Given the description of an element on the screen output the (x, y) to click on. 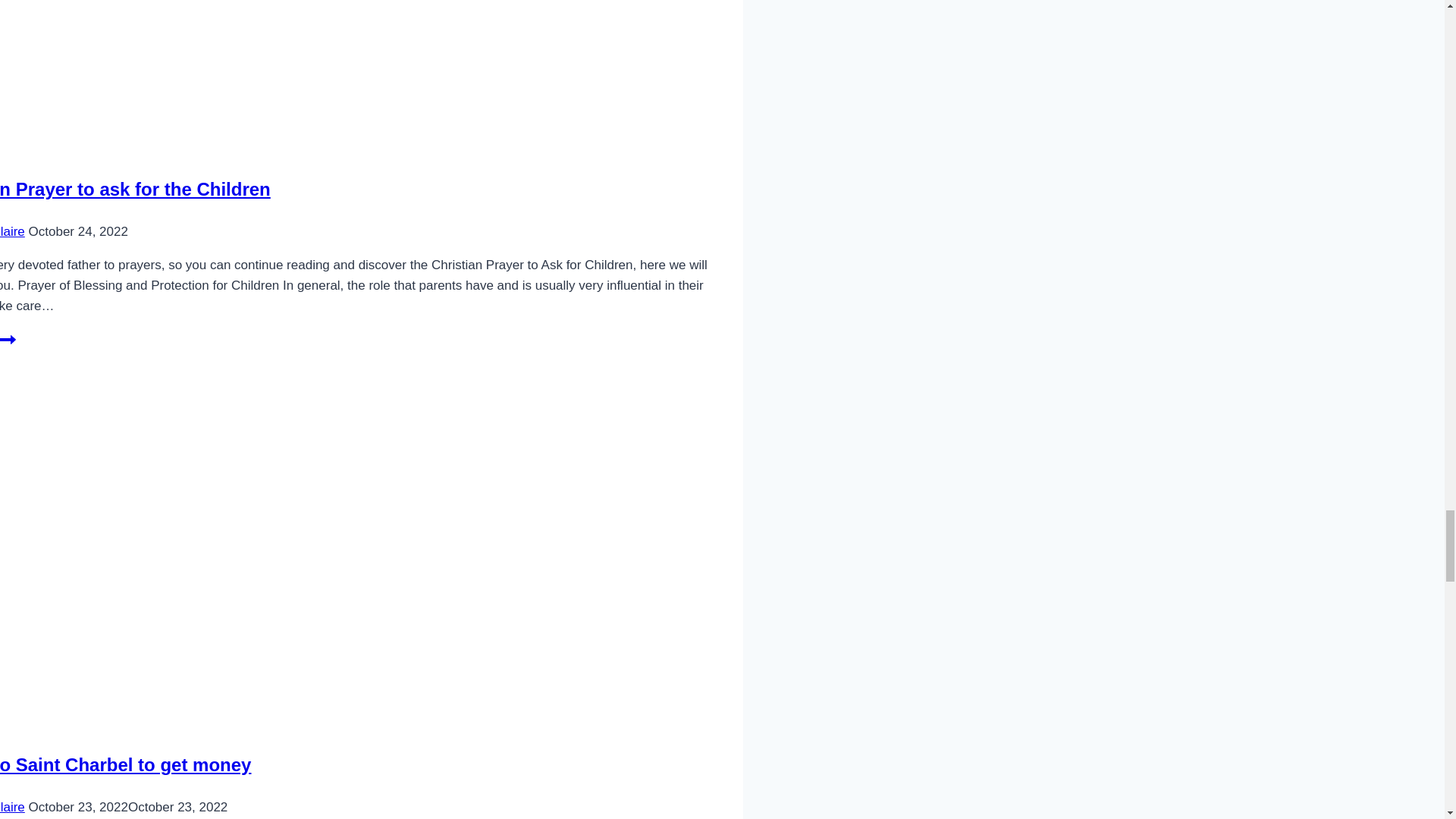
Kelly D Claire (12, 231)
Prayer to Saint Charbel to get money (8, 345)
Christian Prayer to ask for the Children (125, 764)
Kelly D Claire (135, 189)
